Given the description of an element on the screen output the (x, y) to click on. 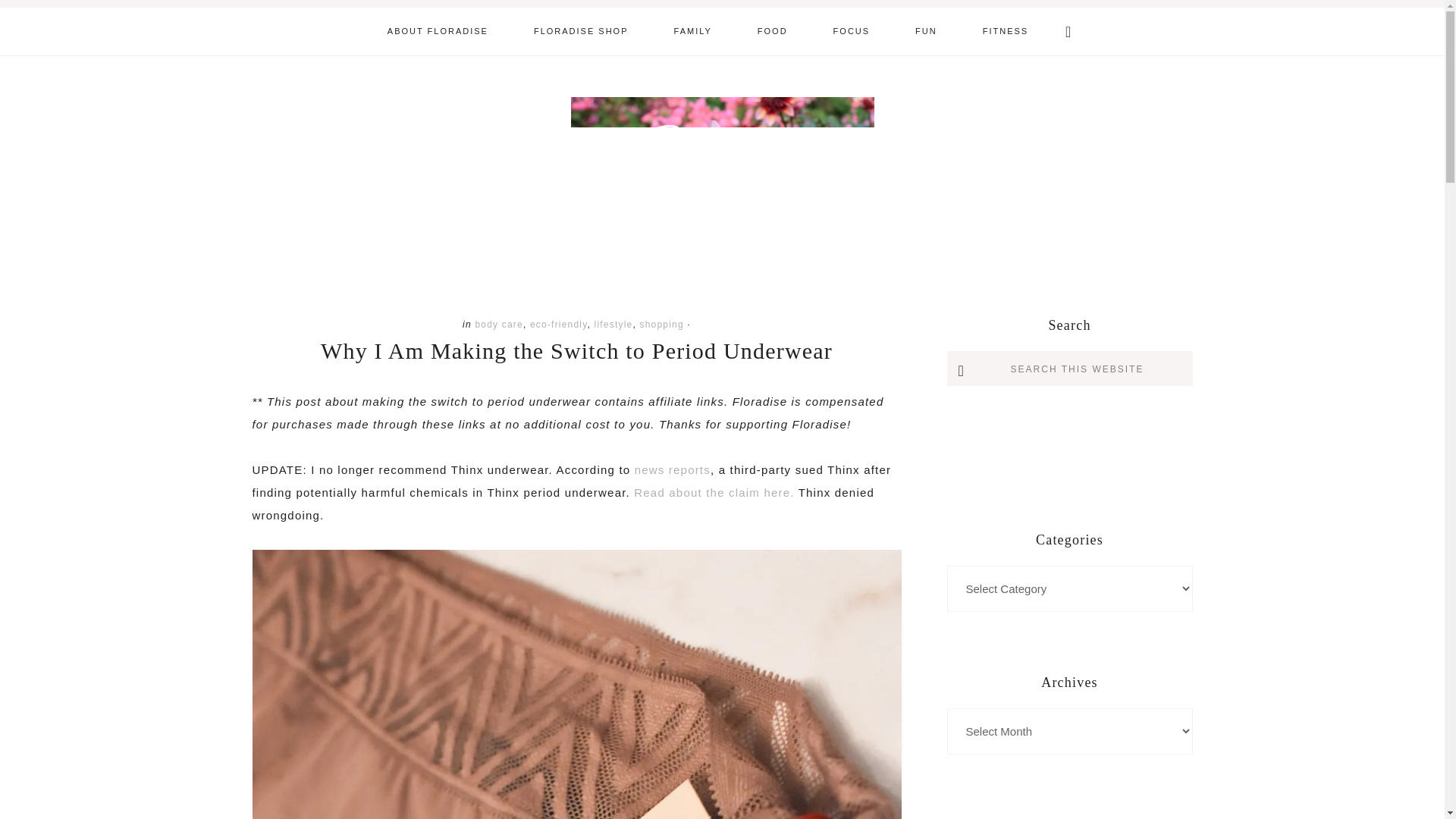
FOOD (772, 31)
Read about the claim here. (713, 492)
FUN (925, 31)
FOCUS (851, 31)
FAMILY (692, 31)
FLORADISE SHOP (580, 31)
